Given the description of an element on the screen output the (x, y) to click on. 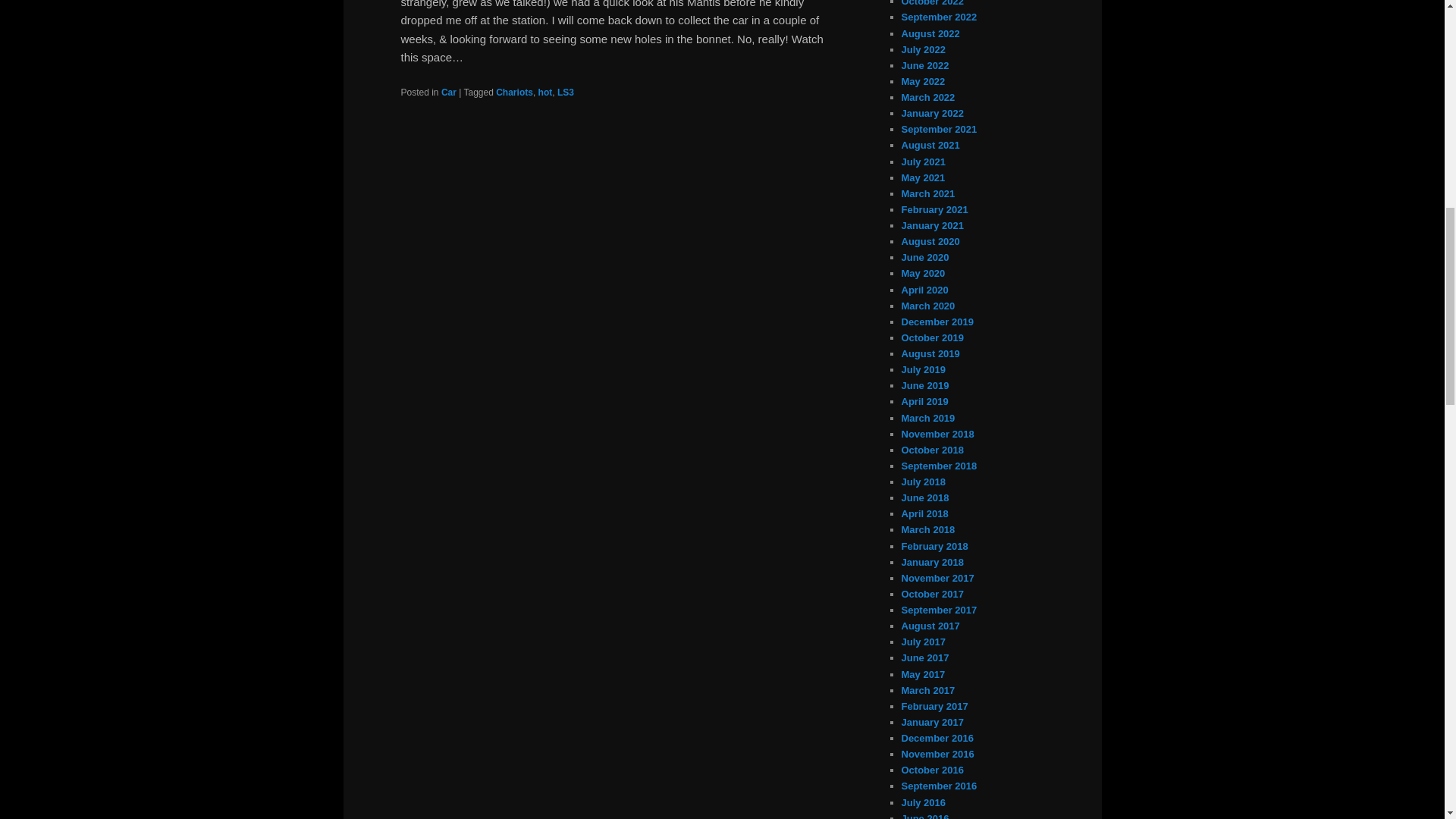
October 2022 (931, 3)
Car (449, 91)
July 2022 (922, 49)
August 2022 (930, 33)
Chariots (514, 91)
June 2022 (925, 65)
hot (545, 91)
LS3 (565, 91)
September 2022 (938, 16)
